Given the description of an element on the screen output the (x, y) to click on. 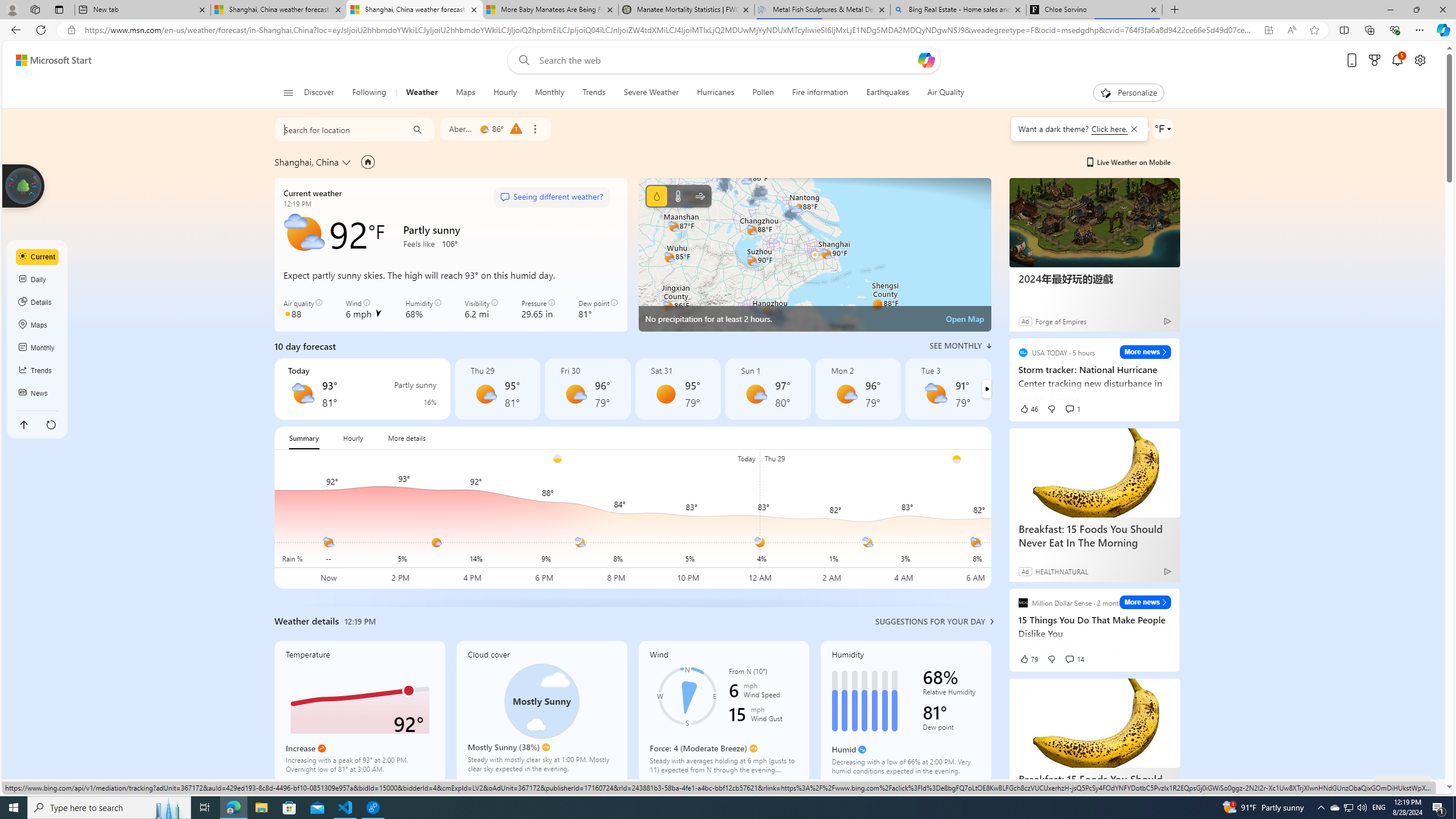
Current (37, 256)
Class: BubbleMessageCloseIcon-DS-EntryPoint1-1 (1133, 128)
Search for location (337, 128)
Trends (593, 92)
Ad (1024, 570)
Bing Real Estate - Home sales and rental listings (957, 9)
Read aloud this page (Ctrl+Shift+U) (1291, 29)
Trends (593, 92)
Weather settings Want a dark theme?Click here. (1162, 128)
Hurricanes (716, 92)
Discover (323, 92)
Consumer Health Privacy (1080, 785)
Increase (321, 748)
